Given the description of an element on the screen output the (x, y) to click on. 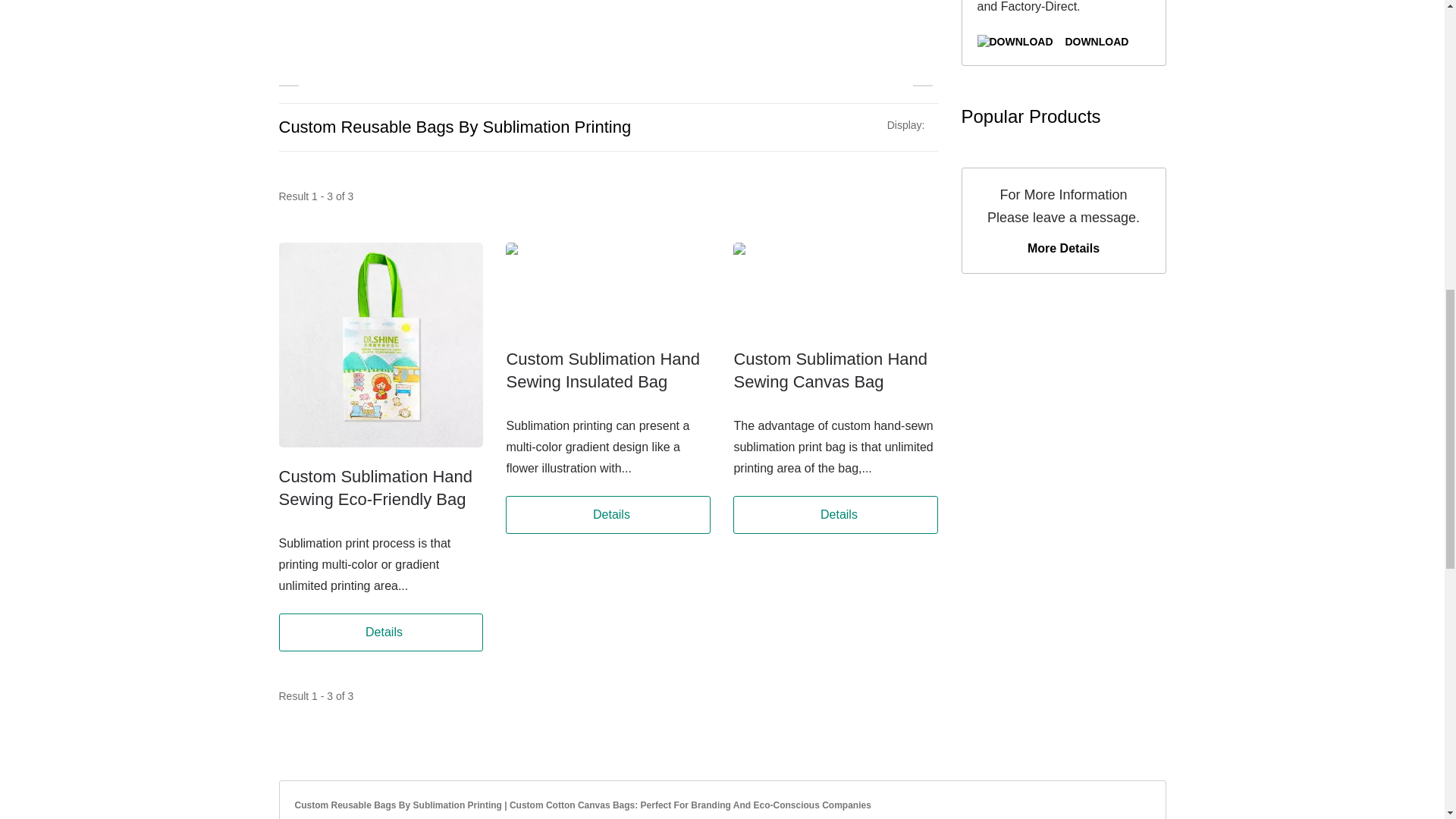
Details (381, 632)
Details (835, 514)
Details (607, 514)
